Given the description of an element on the screen output the (x, y) to click on. 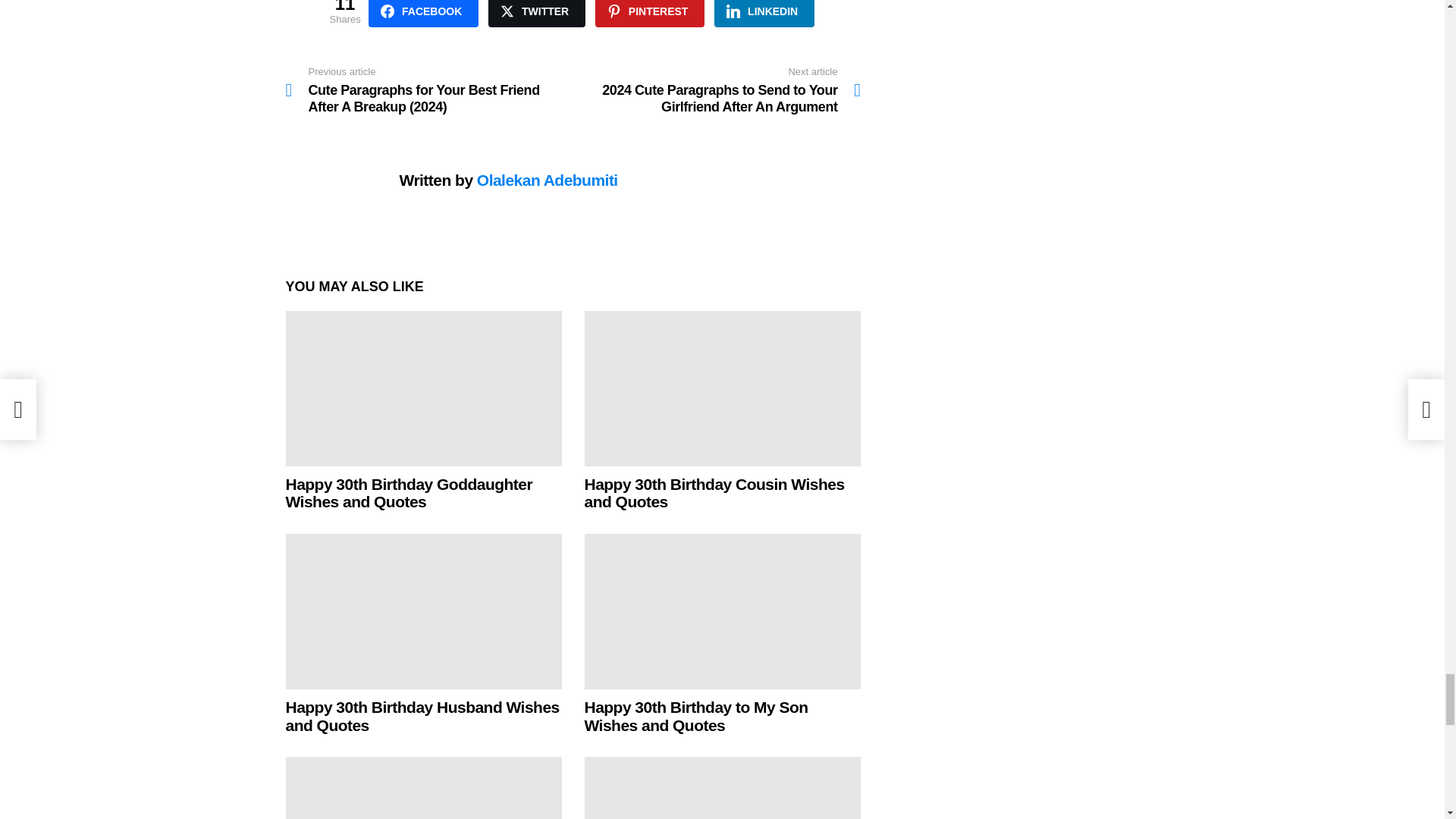
Happy 30th Birthday Cousin Wishes and Quotes (721, 388)
Share on Twitter (536, 13)
Happy 30th Birthday to My Son Wishes and Quotes (721, 611)
FACEBOOK (423, 13)
Share on Facebook (423, 13)
Happy 30th Birthday Goddaughter Wishes and Quotes (422, 388)
Happy 30th Birthday Husband Wishes and Quotes (422, 611)
Share on Pinterest (649, 13)
Share on LinkedIn (763, 13)
